Given the description of an element on the screen output the (x, y) to click on. 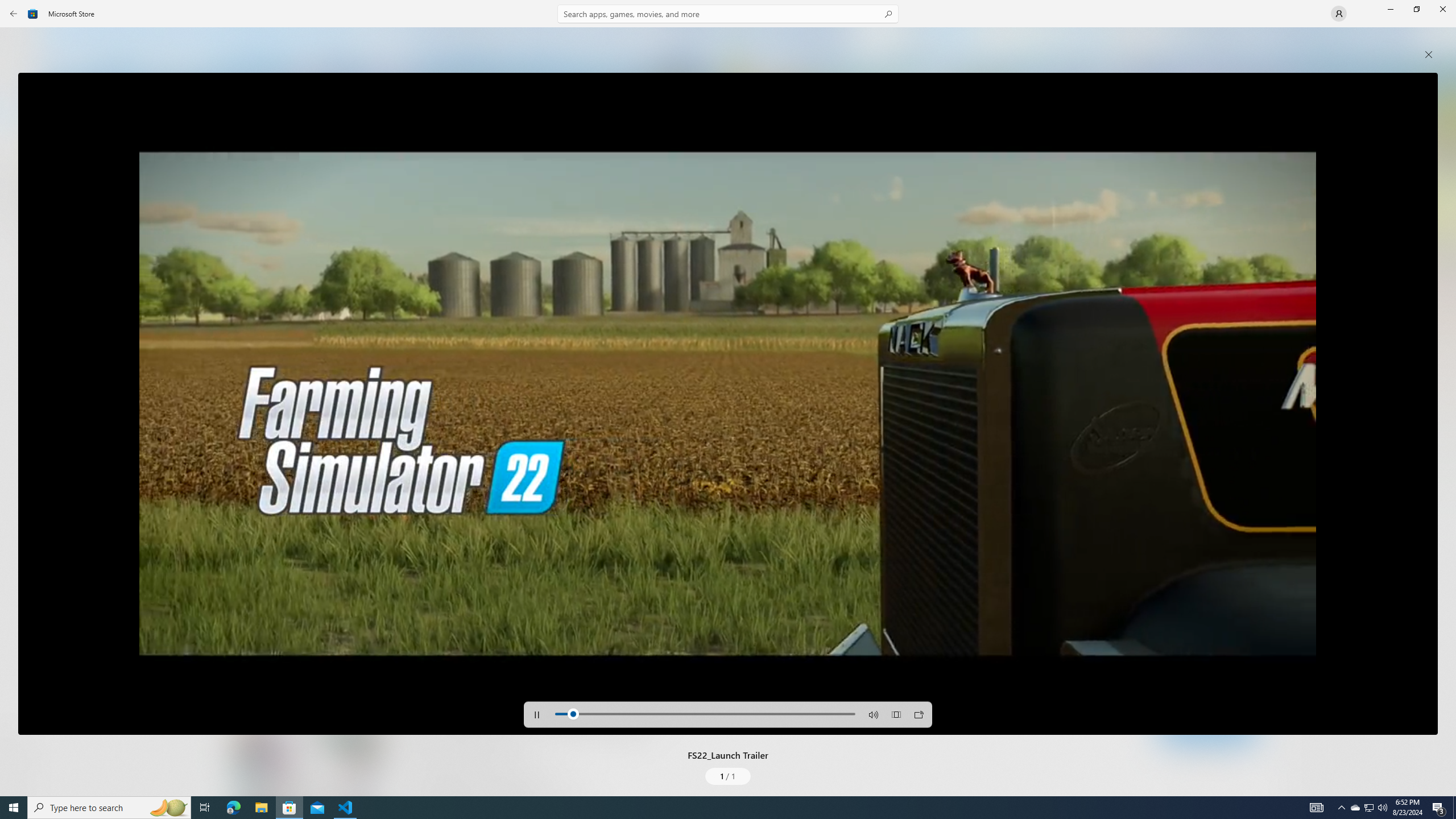
User profile (1338, 13)
Play Trailer (287, 575)
Cast to Device (918, 713)
Explore PC Game Pass (1207, 728)
AI Hub (20, 221)
Open Xbox App (1207, 753)
